Given the description of an element on the screen output the (x, y) to click on. 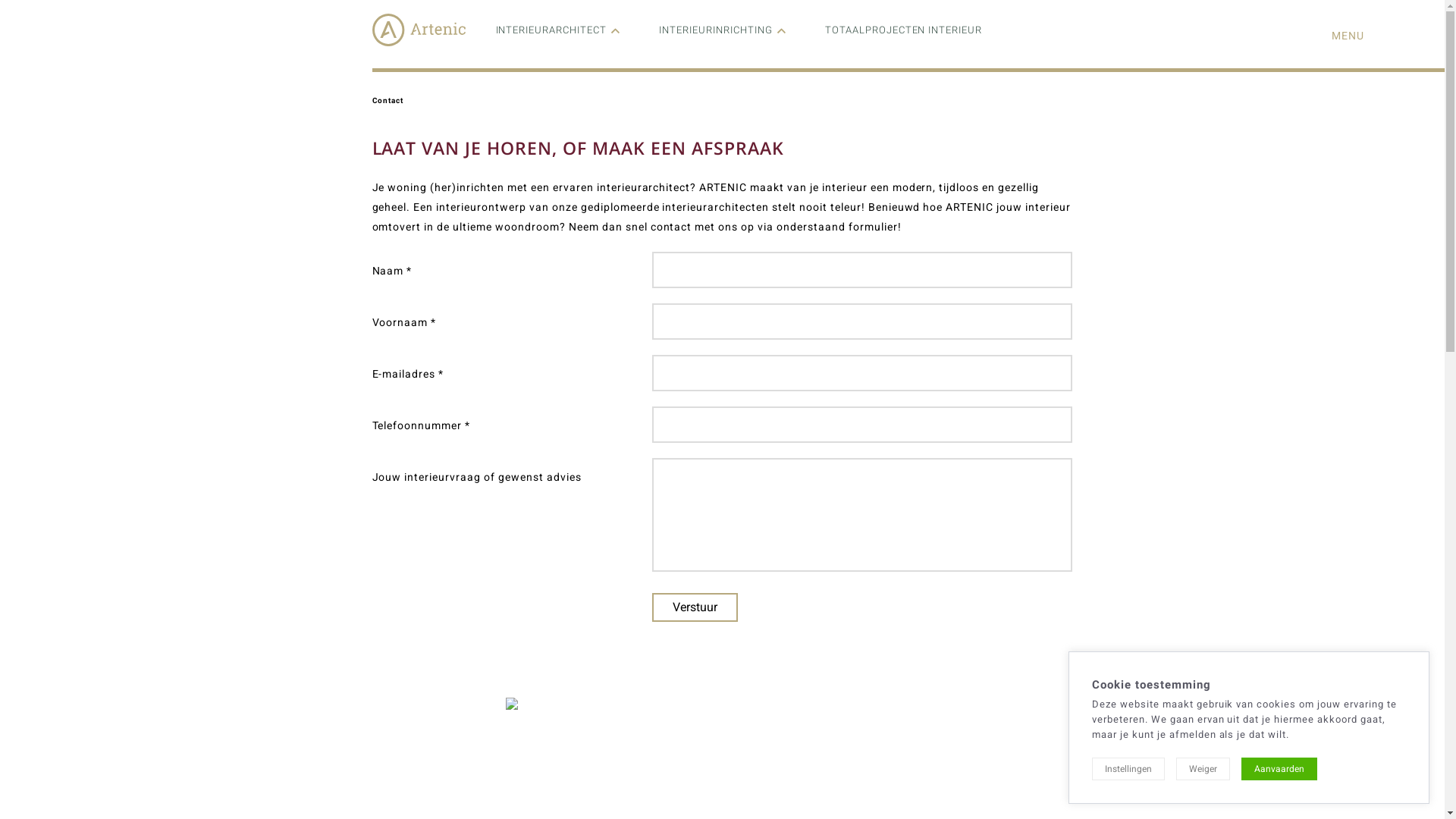
Verstuur Element type: text (694, 607)
Contact Element type: text (387, 100)
Weiger Element type: text (1203, 768)
Instellingen Element type: text (1128, 768)
Aanvaarden Element type: text (1279, 768)
TOTAALPROJECTEN INTERIEUR Element type: text (903, 29)
Home Element type: hover (417, 42)
INTERIEURARCHITECT Element type: text (551, 29)
INTERIEURINRICHTING Element type: text (715, 29)
